Given the description of an element on the screen output the (x, y) to click on. 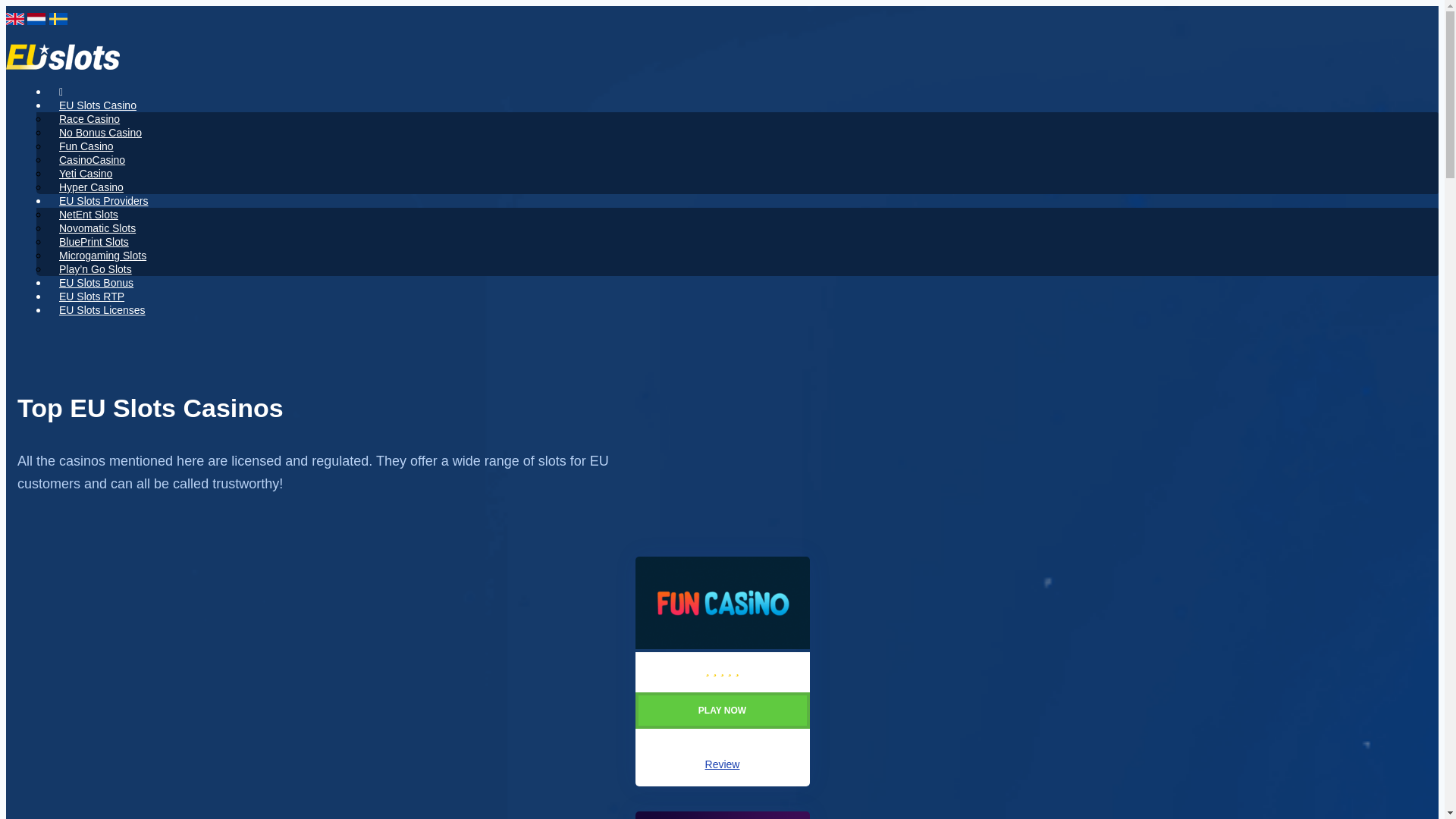
Hyper Casino (90, 186)
Microgaming Slots (102, 255)
CasinoCasino (91, 159)
EU Slots Providers (103, 200)
PLAY NOW (721, 724)
BluePrint Slots (93, 241)
Fun Casino (85, 145)
EU Slots RTP (91, 296)
Yeti Casino (84, 173)
EU Slots Licenses (101, 309)
Novomatic Slots (96, 227)
No Bonus Casino (100, 132)
EU Slots Bonus (95, 282)
NetEnt Slots (87, 214)
Review (721, 764)
